Given the description of an element on the screen output the (x, y) to click on. 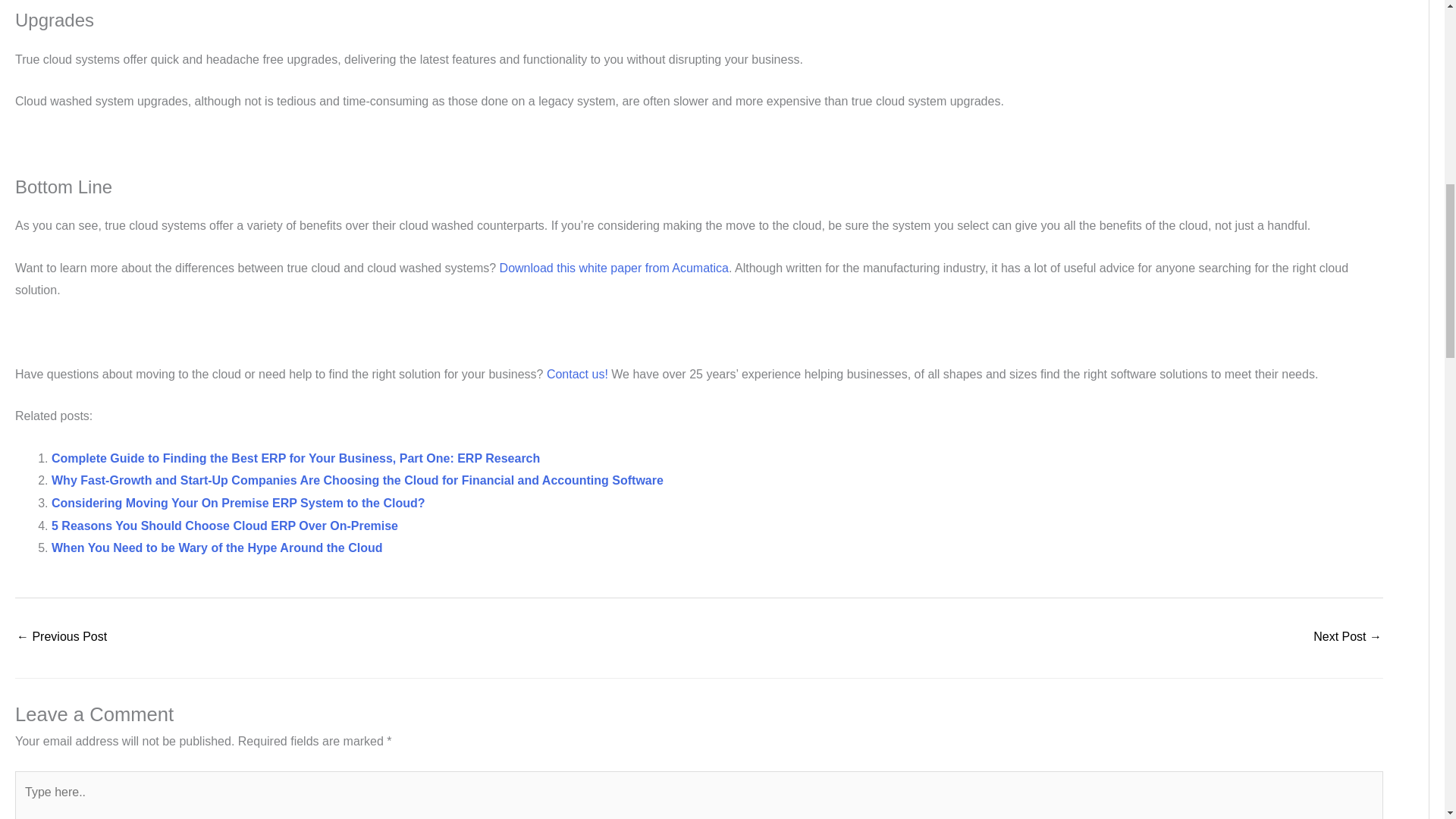
Considering Moving Your On Premise ERP System to the Cloud? (237, 502)
When You Need to be Wary of the Hype Around the Cloud (215, 547)
Contact us! (577, 373)
5 Reasons You Should Choose Cloud ERP Over On-Premise (223, 525)
5 Reasons You Should Choose Cloud ERP Over On-Premise (223, 525)
Transitioning from Skype for Business to Microsoft Teams (1347, 637)
